Given the description of an element on the screen output the (x, y) to click on. 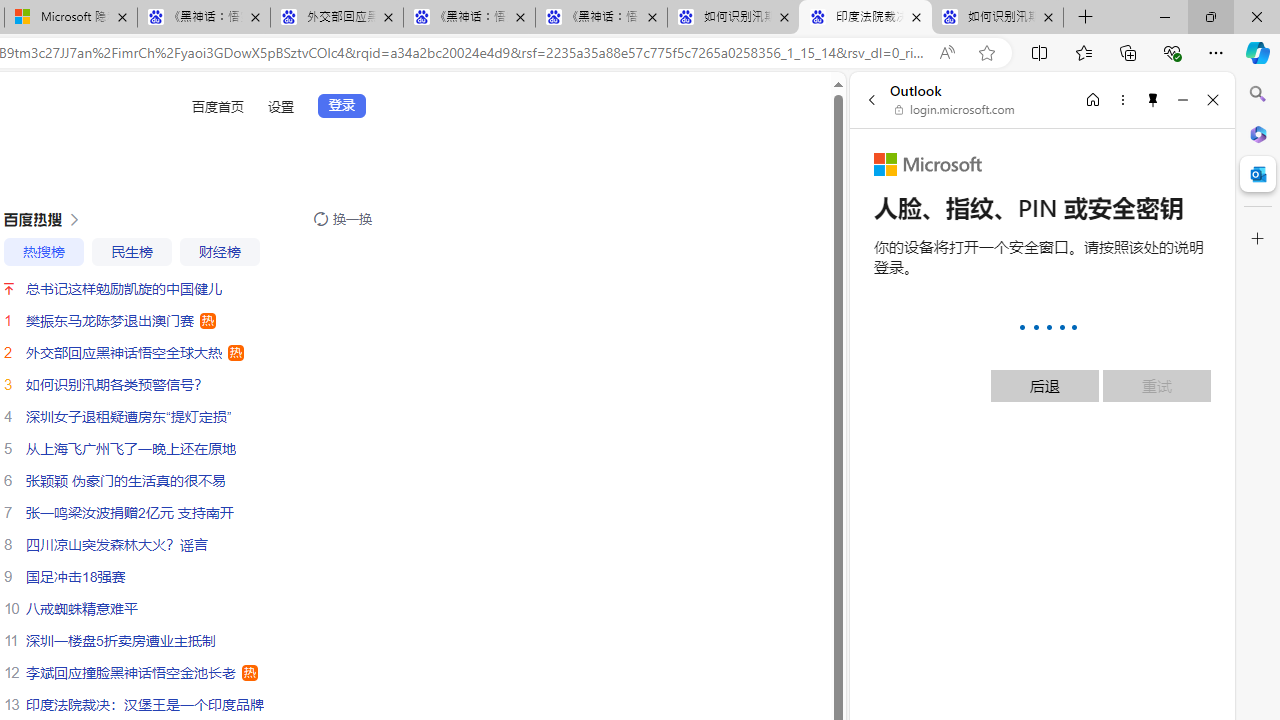
Unpin side pane (1153, 99)
login.microsoft.com (955, 110)
Microsoft (927, 164)
